Given the description of an element on the screen output the (x, y) to click on. 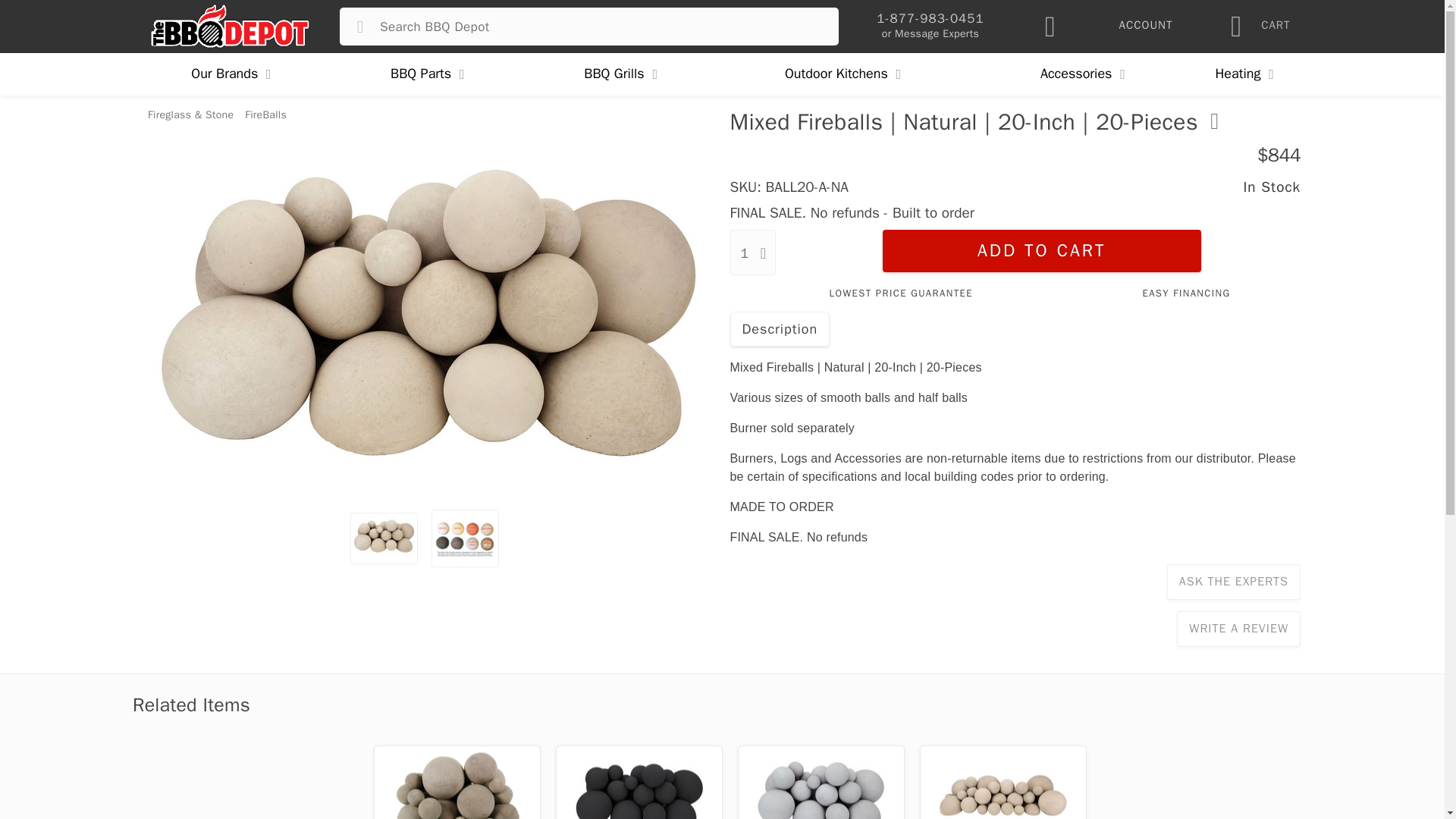
Image 2 (464, 536)
BBQ Grills (621, 74)
ACCOUNT (1145, 26)
Outdoor Kitchens (844, 74)
Description (779, 329)
Accessories (1083, 74)
FireBalls (265, 114)
ASK THE EXPERTS (1233, 581)
Heating (1244, 74)
BBQ Parts (428, 74)
